Given the description of an element on the screen output the (x, y) to click on. 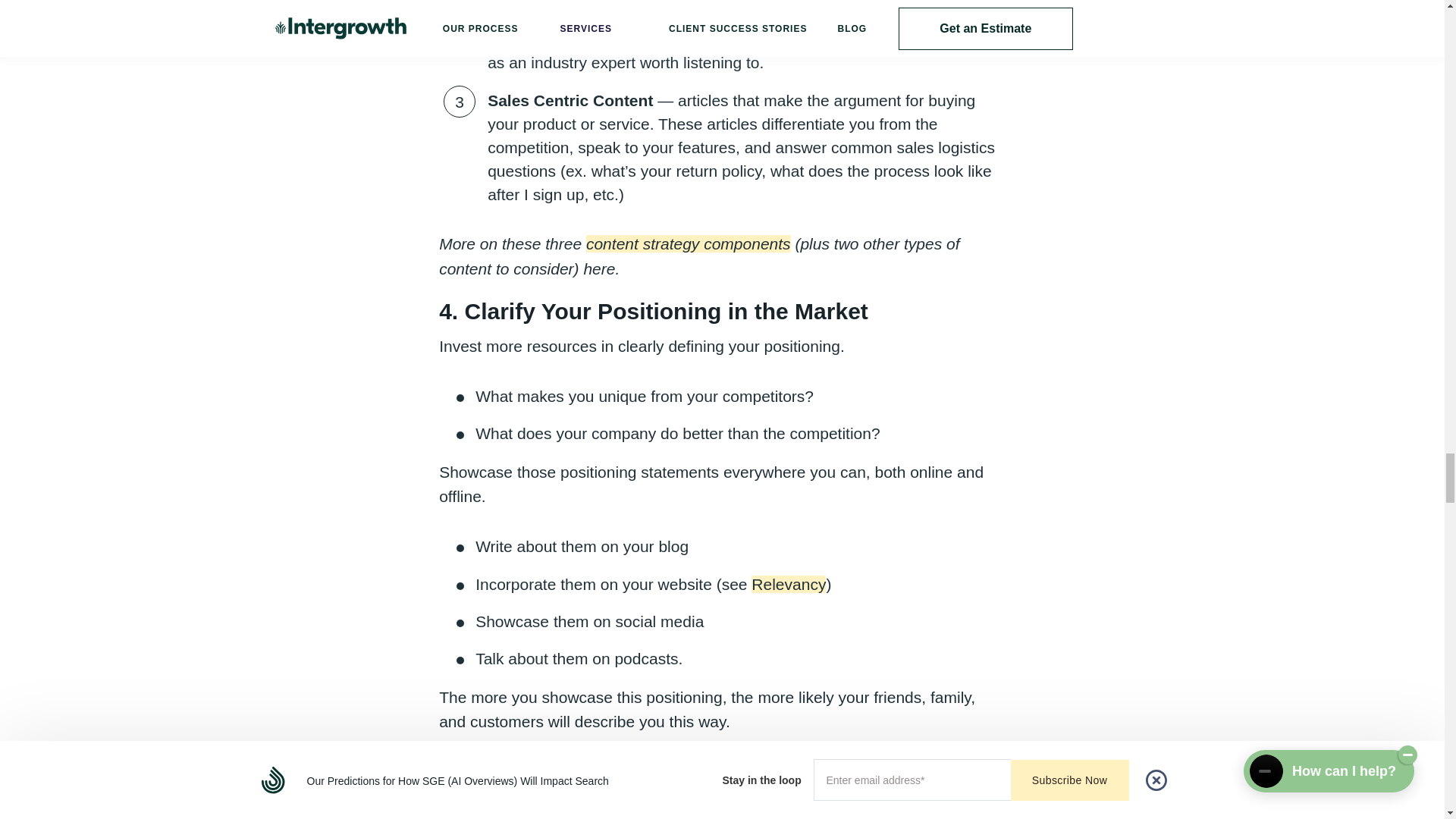
Relevancy (788, 583)
content strategy components (688, 243)
